Given the description of an element on the screen output the (x, y) to click on. 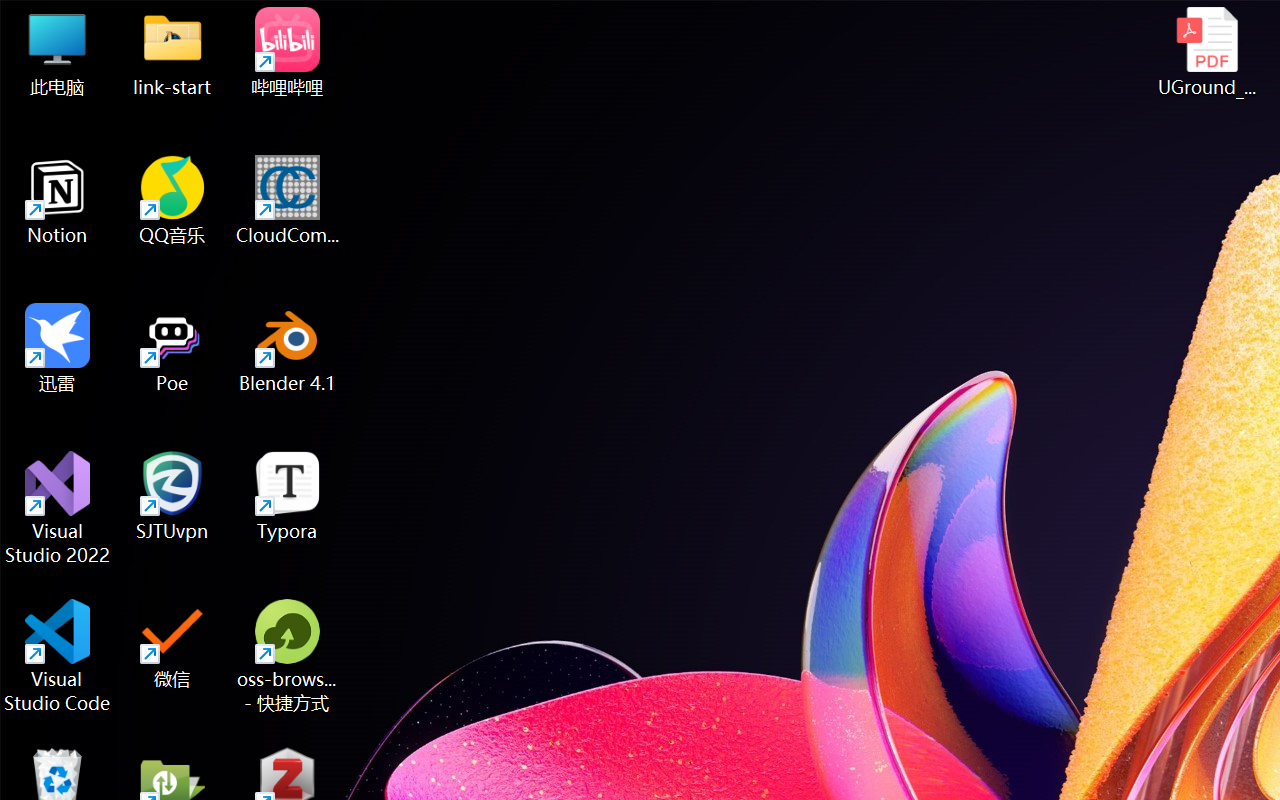
Blender 4.1 (287, 348)
Visual Studio Code (57, 656)
Typora (287, 496)
SJTUvpn (172, 496)
UGround_paper.pdf (1206, 52)
Visual Studio 2022 (57, 508)
CloudCompare (287, 200)
